Given the description of an element on the screen output the (x, y) to click on. 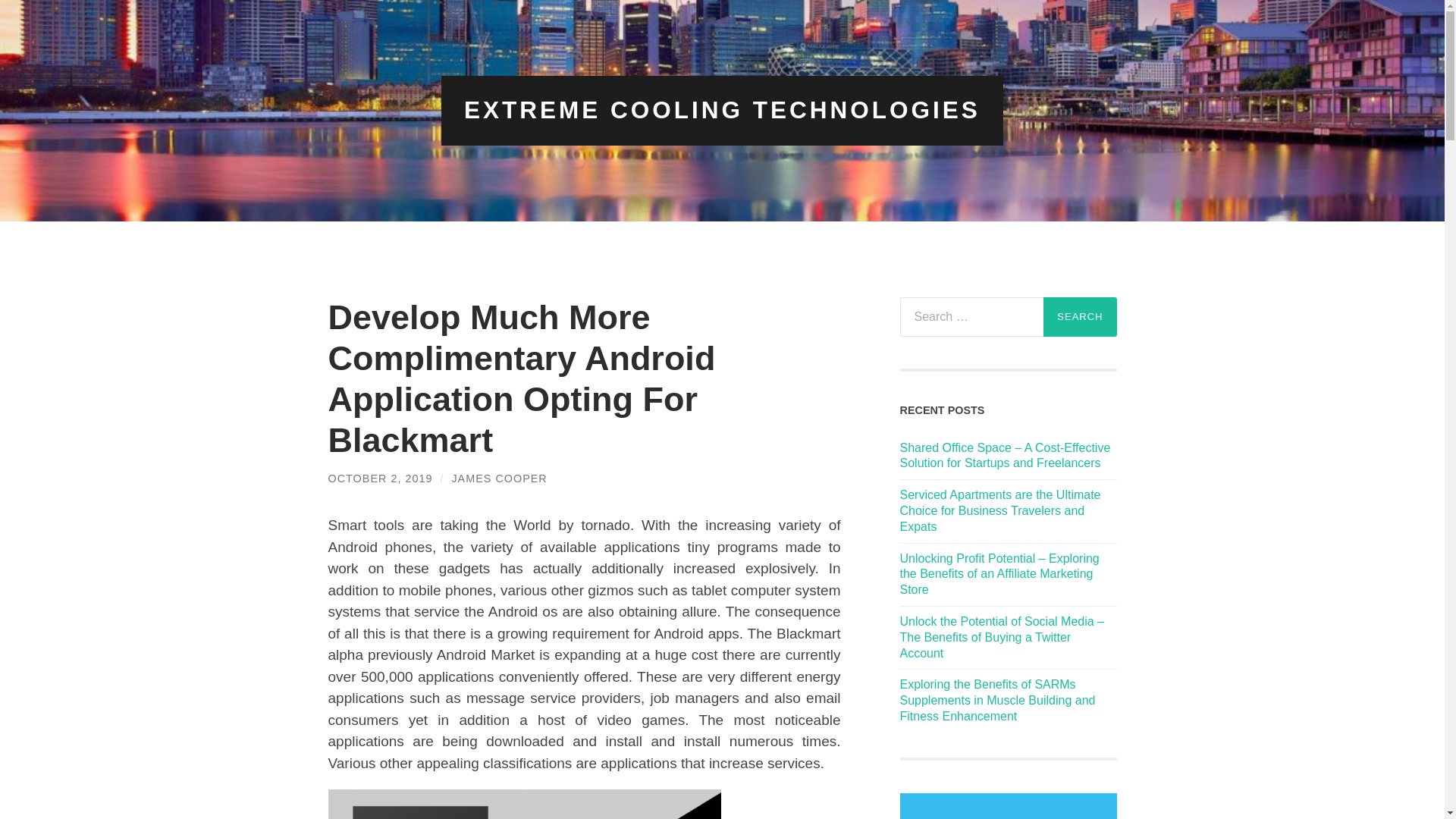
Search (1079, 316)
EXTREME COOLING TECHNOLOGIES (721, 109)
Search (1079, 316)
OCTOBER 2, 2019 (379, 477)
JAMES COOPER (499, 477)
Posts by James Cooper (499, 477)
Search (1079, 316)
